Given the description of an element on the screen output the (x, y) to click on. 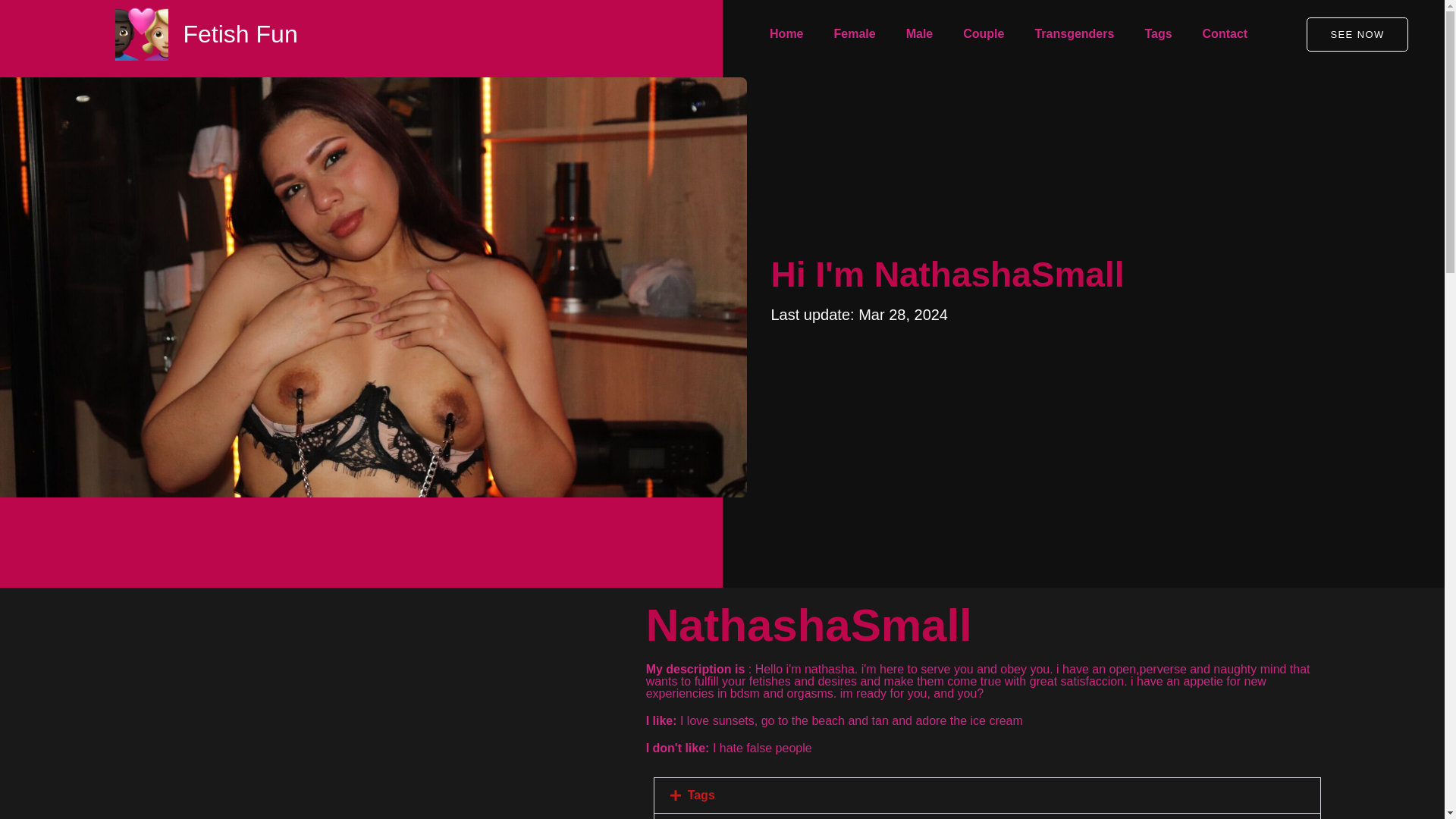
Tags (1157, 34)
Contact (1225, 34)
SEE NOW (1356, 33)
Female (854, 34)
Transgenders (1074, 34)
Home (786, 34)
Fetish Fun (240, 33)
Male (920, 34)
Couple (983, 34)
Fetish Fun (240, 33)
Tags (700, 794)
Male (920, 34)
Contact (1225, 34)
Tags (1157, 34)
Female (854, 34)
